Given the description of an element on the screen output the (x, y) to click on. 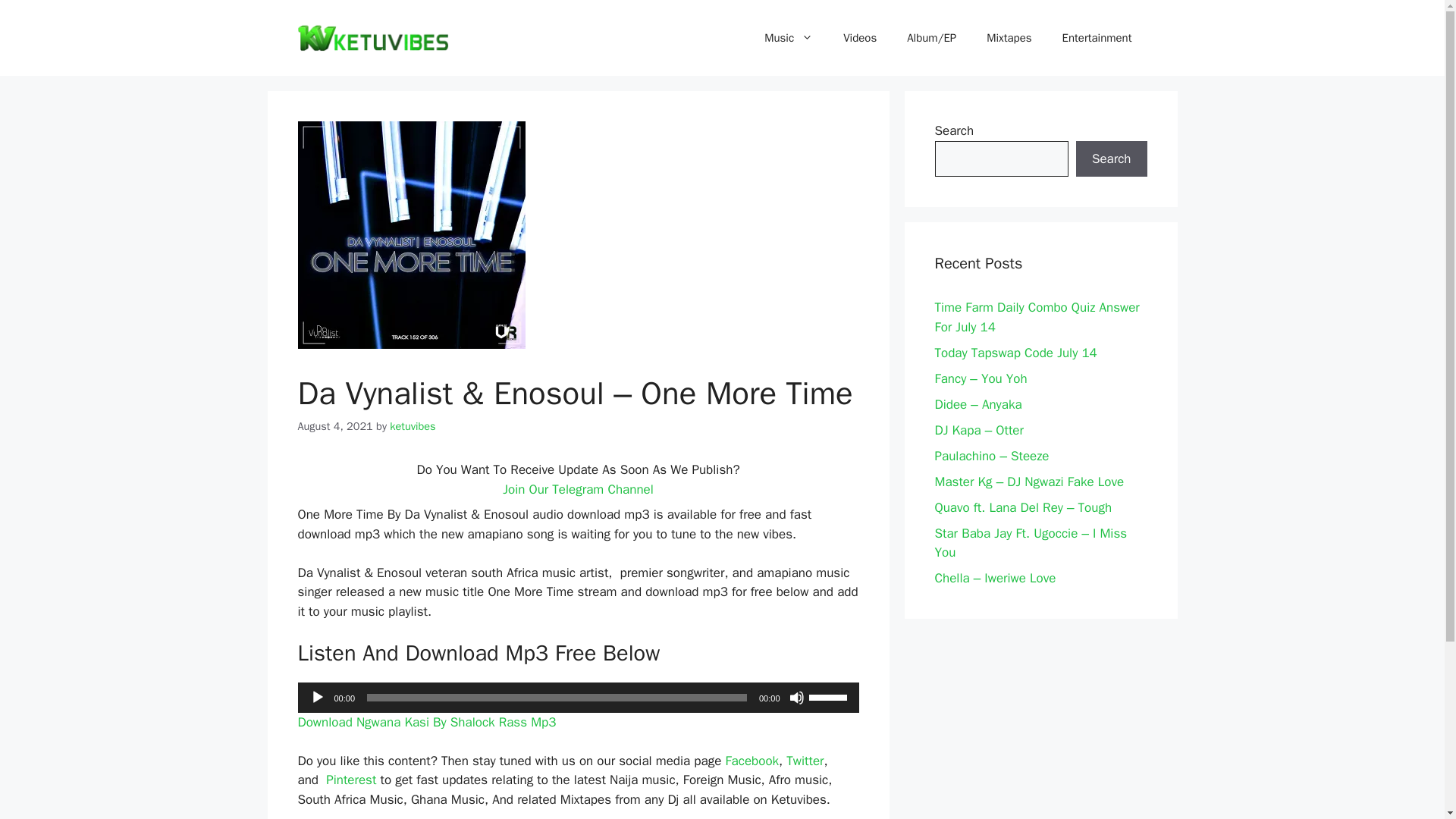
Twitter (805, 760)
Entertainment (1096, 37)
Videos (859, 37)
Facebook (751, 760)
Time Farm Daily Combo Quiz Answer For July 14 (1036, 316)
Mixtapes (1008, 37)
Search (1111, 158)
Join Our Telegram Channel (577, 489)
Pinterest (350, 779)
Today Tapswap Code July 14 (1015, 351)
Play (316, 697)
Music (788, 37)
Mute (796, 697)
View all posts by ketuvibes (412, 426)
Download Ngwana Kasi By Shalock Rass Mp3 (426, 722)
